Given the description of an element on the screen output the (x, y) to click on. 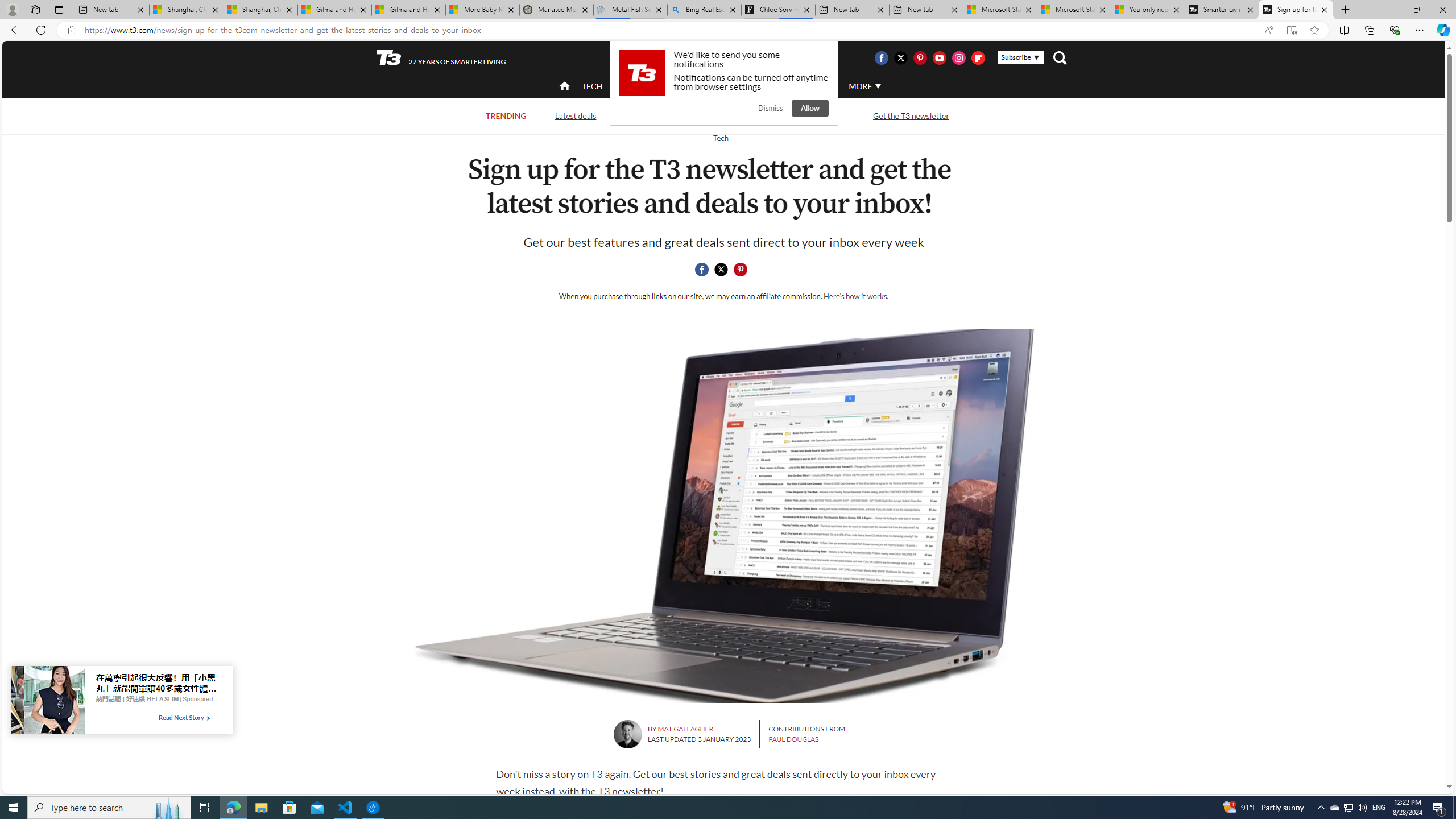
Share this page on Pintrest (739, 269)
T3 (389, 56)
LUXURY (765, 85)
Share this page on Facebook (701, 269)
Shanghai, China weather forecast | Microsoft Weather (260, 9)
Class: tbl-arrow-icon arrow-1 (208, 717)
Streaming TV and movies (788, 115)
Microsoft Start Sports (1000, 9)
